Given the description of an element on the screen output the (x, y) to click on. 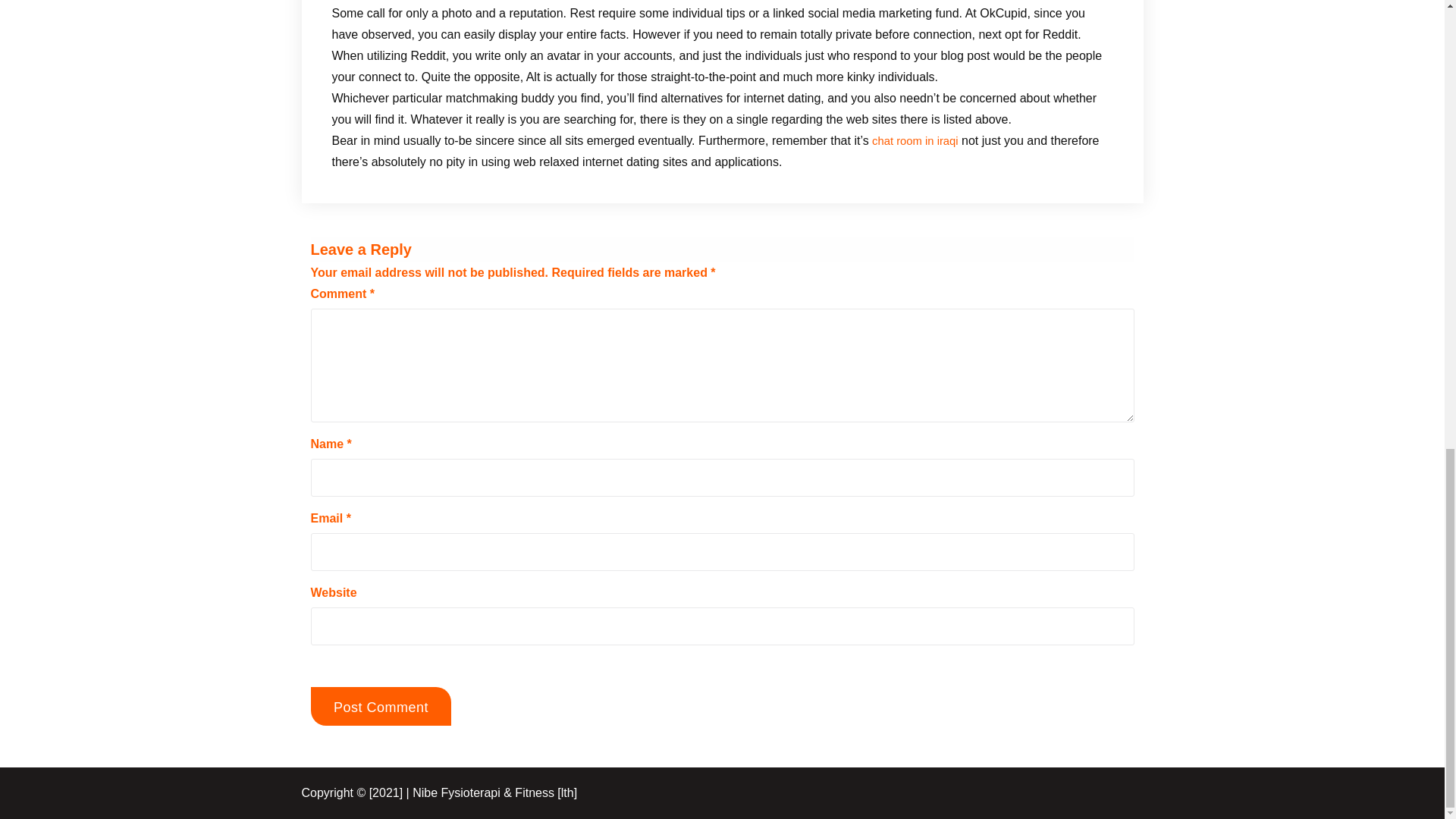
Post Comment (381, 706)
